Given the description of an element on the screen output the (x, y) to click on. 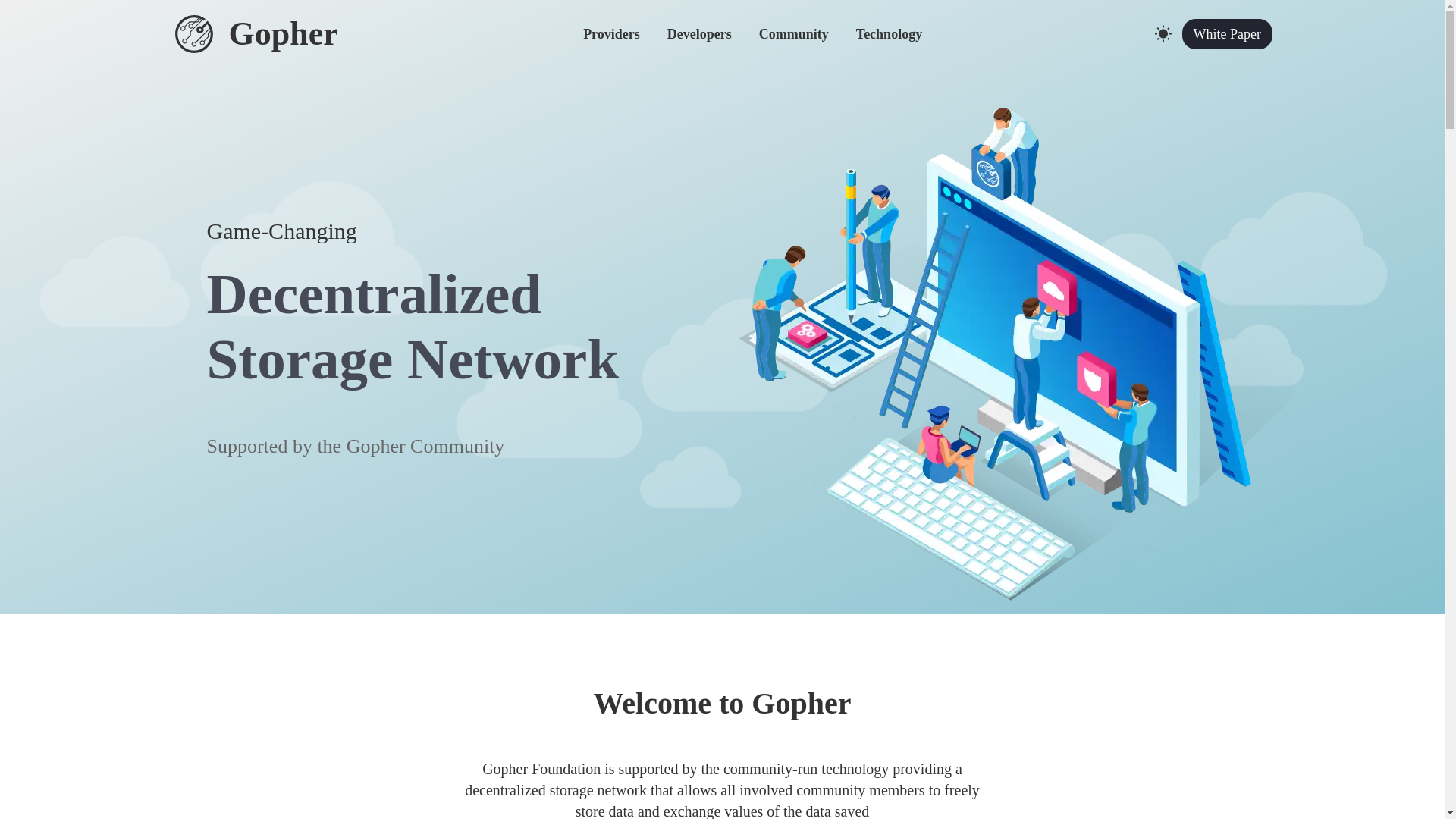
Providers (611, 33)
Gopher (255, 33)
White Paper (1226, 33)
Developers (699, 33)
Technology (888, 33)
Community (793, 33)
